Given the description of an element on the screen output the (x, y) to click on. 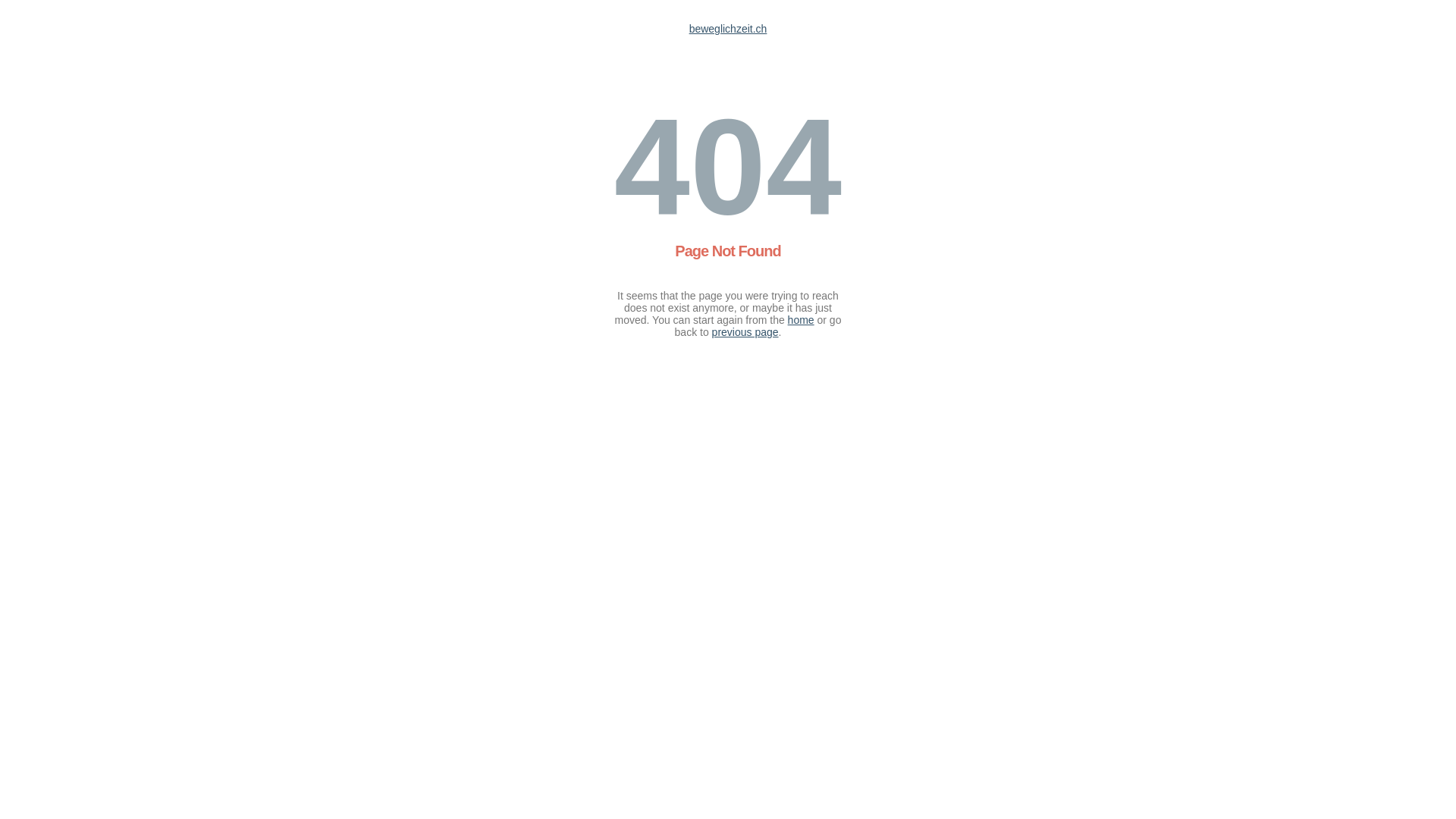
beweglichzeit.ch Element type: text (728, 28)
home Element type: text (800, 319)
previous page Element type: text (745, 332)
